Given the description of an element on the screen output the (x, y) to click on. 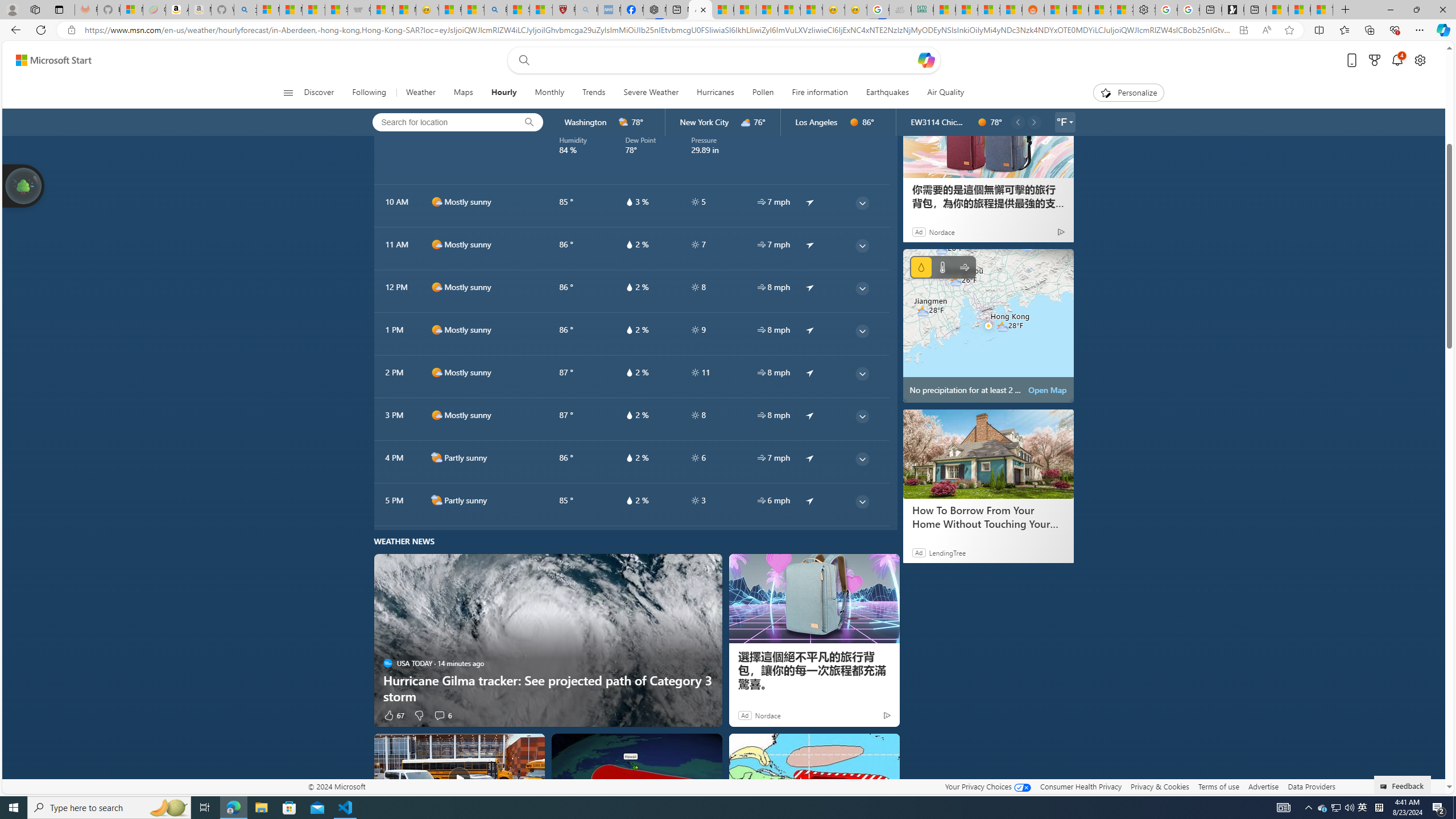
Air Quality (945, 92)
These 3 Stocks Pay You More Than 5% to Own Them (1322, 9)
